Given the description of an element on the screen output the (x, y) to click on. 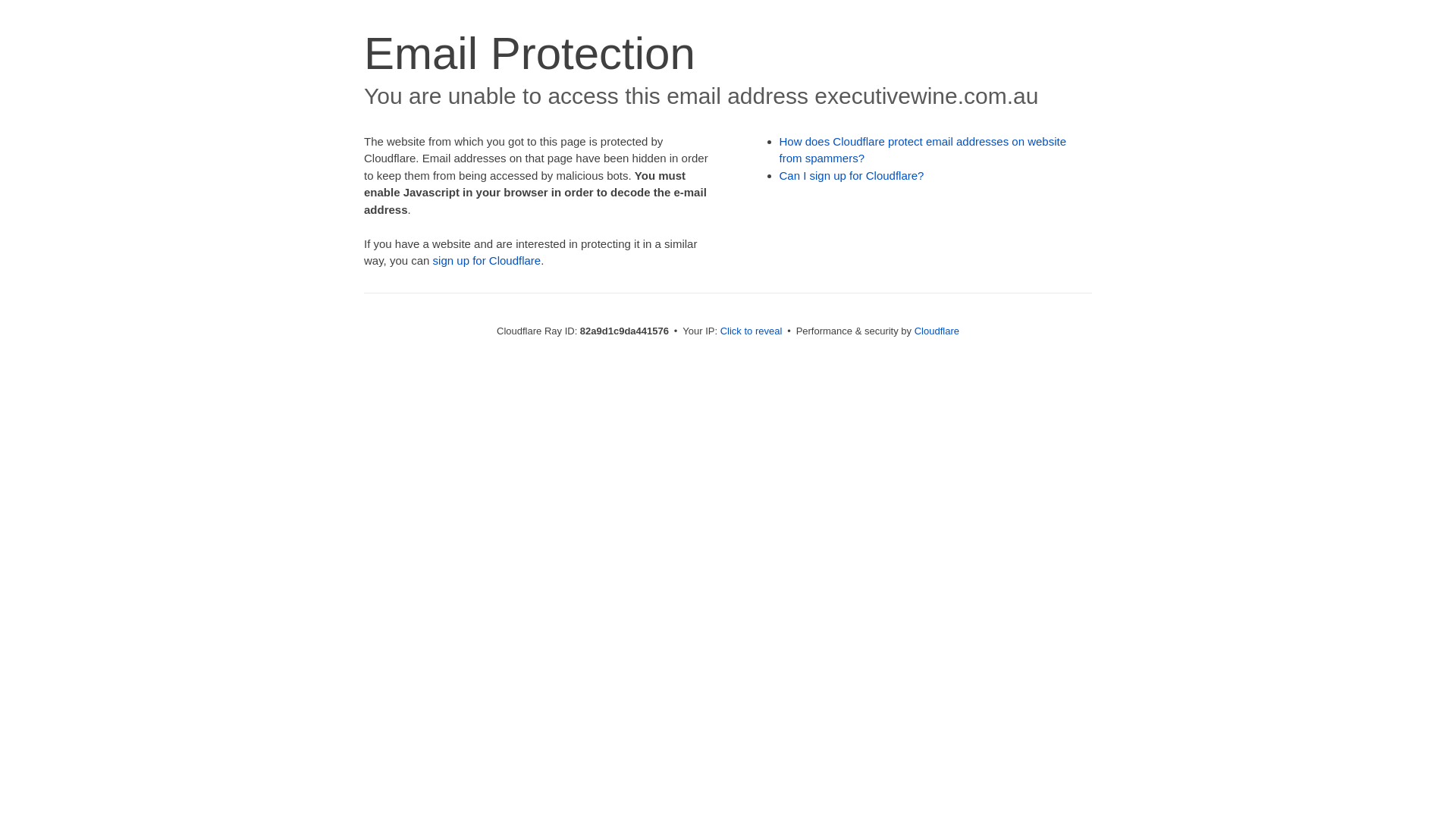
sign up for Cloudflare Element type: text (487, 260)
Cloudflare Element type: text (936, 330)
Can I sign up for Cloudflare? Element type: text (851, 175)
Click to reveal Element type: text (751, 330)
